Given the description of an element on the screen output the (x, y) to click on. 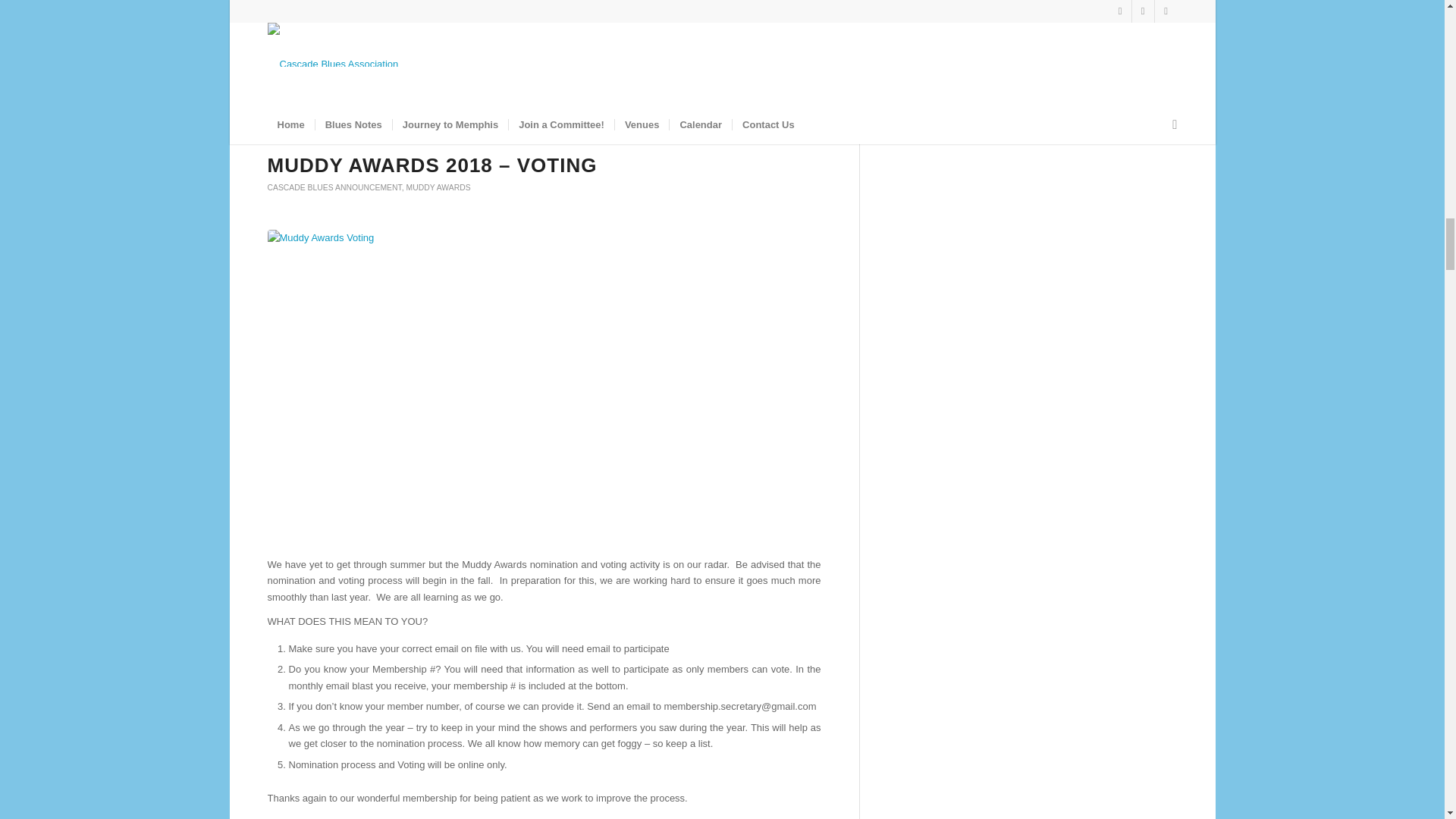
CASCADE BLUES ANNOUNCEMENT (333, 187)
MUDDY AWARDS (438, 187)
